Given the description of an element on the screen output the (x, y) to click on. 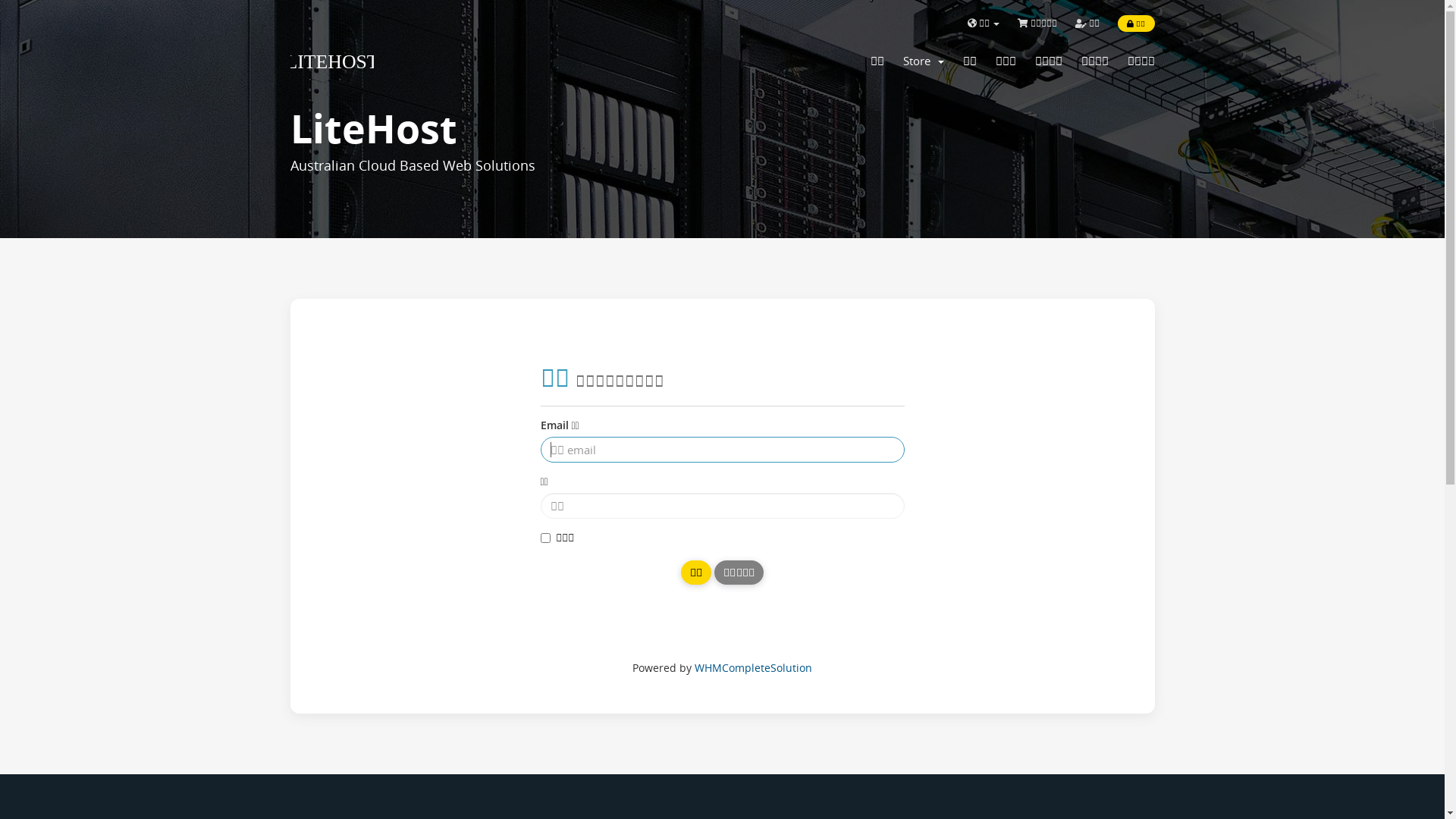
WHMCompleteSolution Element type: text (753, 667)
LITEHOST Element type: text (351, 62)
Store   Element type: text (922, 60)
